Given the description of an element on the screen output the (x, y) to click on. 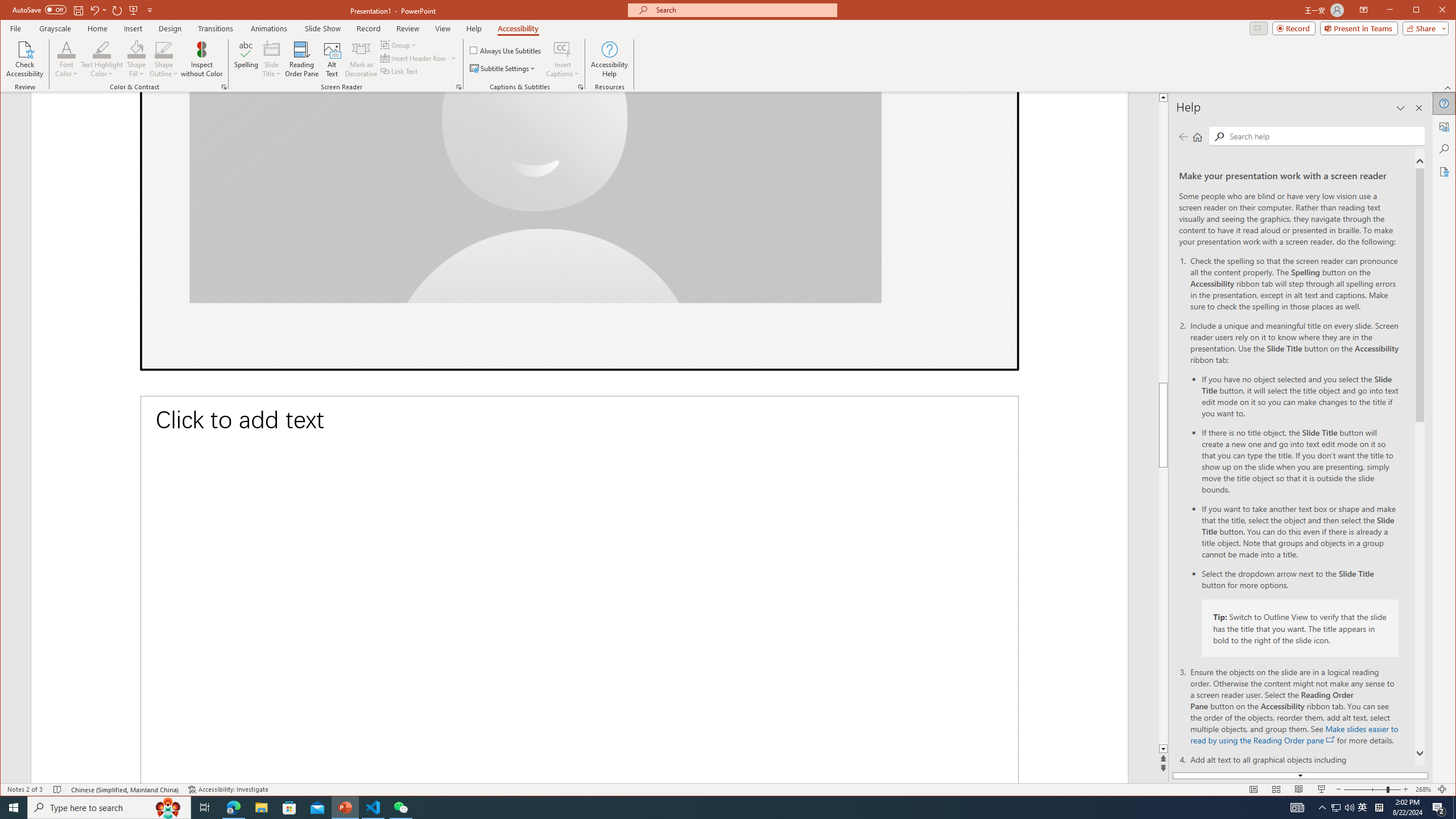
Accessibility Help (608, 59)
